Given the description of an element on the screen output the (x, y) to click on. 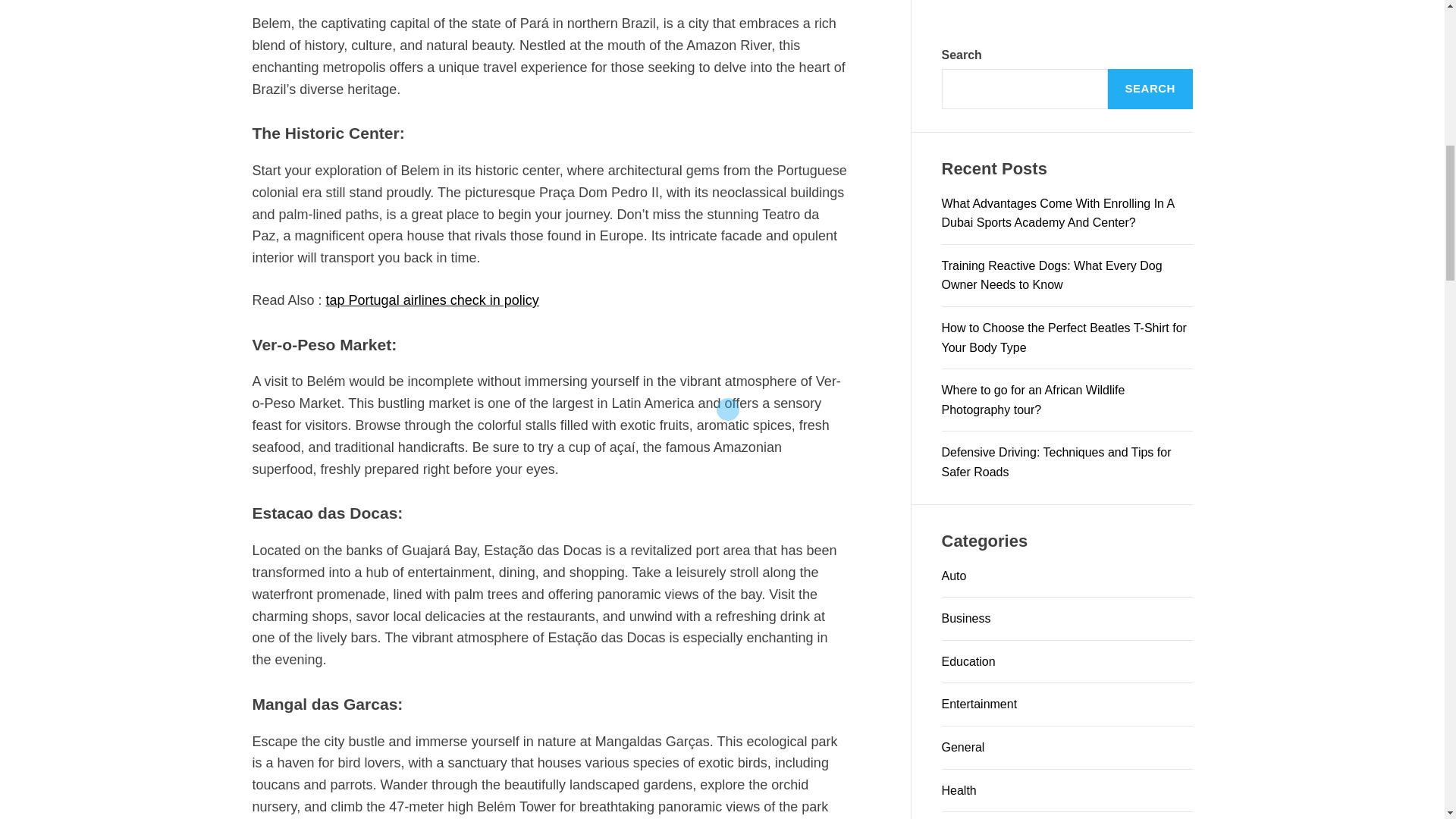
tap Portugal airlines check in policy (432, 299)
